Given the description of an element on the screen output the (x, y) to click on. 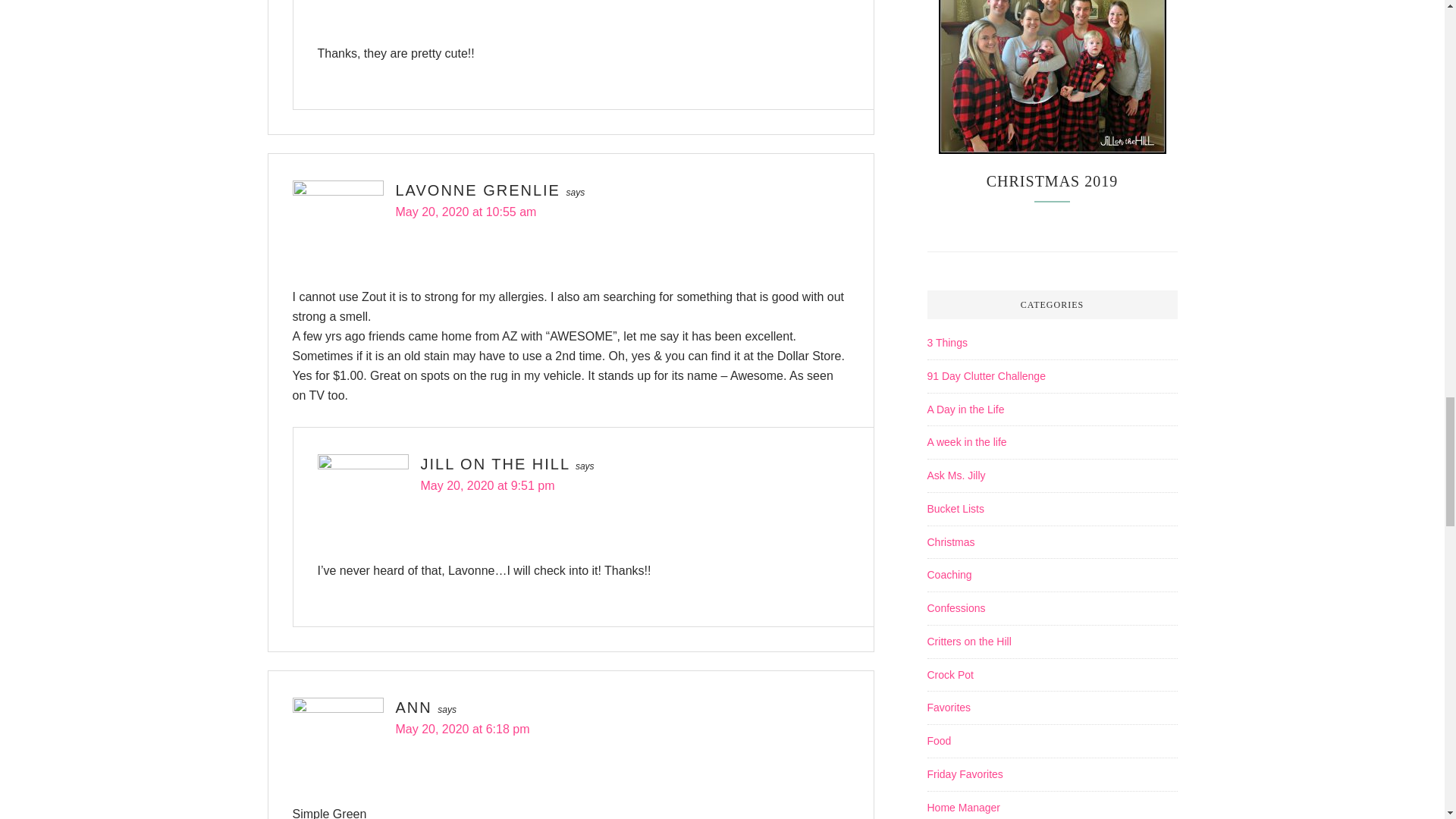
May 20, 2020 at 10:55 am (466, 211)
May 20, 2020 at 9:51 pm (487, 485)
JILL ON THE HILL (494, 463)
May 20, 2020 at 6:18 pm (462, 728)
